Given the description of an element on the screen output the (x, y) to click on. 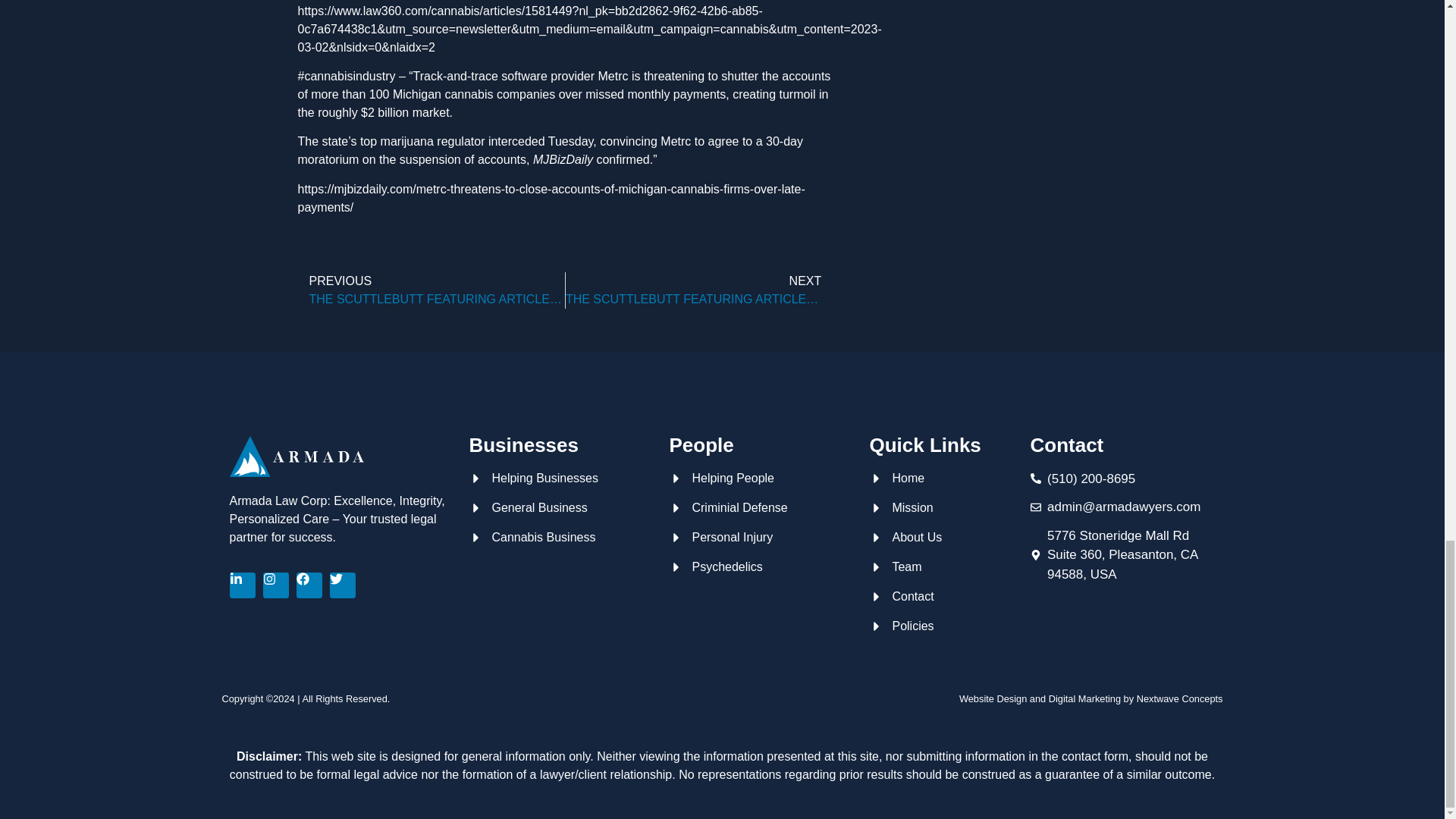
General Business (560, 507)
Helping Businesses (560, 478)
